Given the description of an element on the screen output the (x, y) to click on. 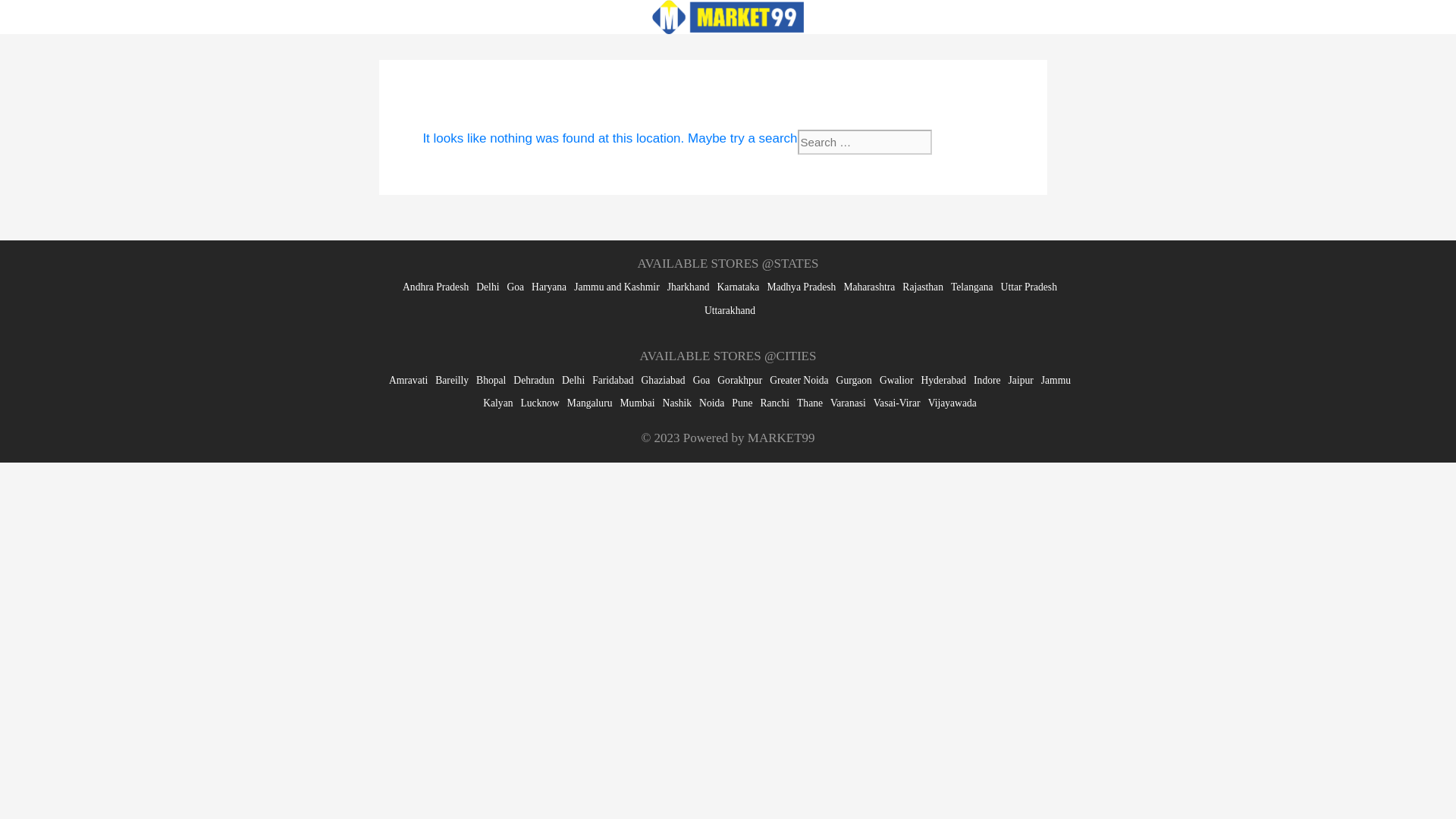
Karnataka (738, 286)
Bareilly (451, 379)
Jammu and Kashmir (616, 286)
Haryana (548, 286)
Delhi (573, 379)
Search (961, 141)
Search (961, 141)
Madhya Pradesh (801, 286)
Amravati (408, 379)
Bhopal (490, 379)
